Given the description of an element on the screen output the (x, y) to click on. 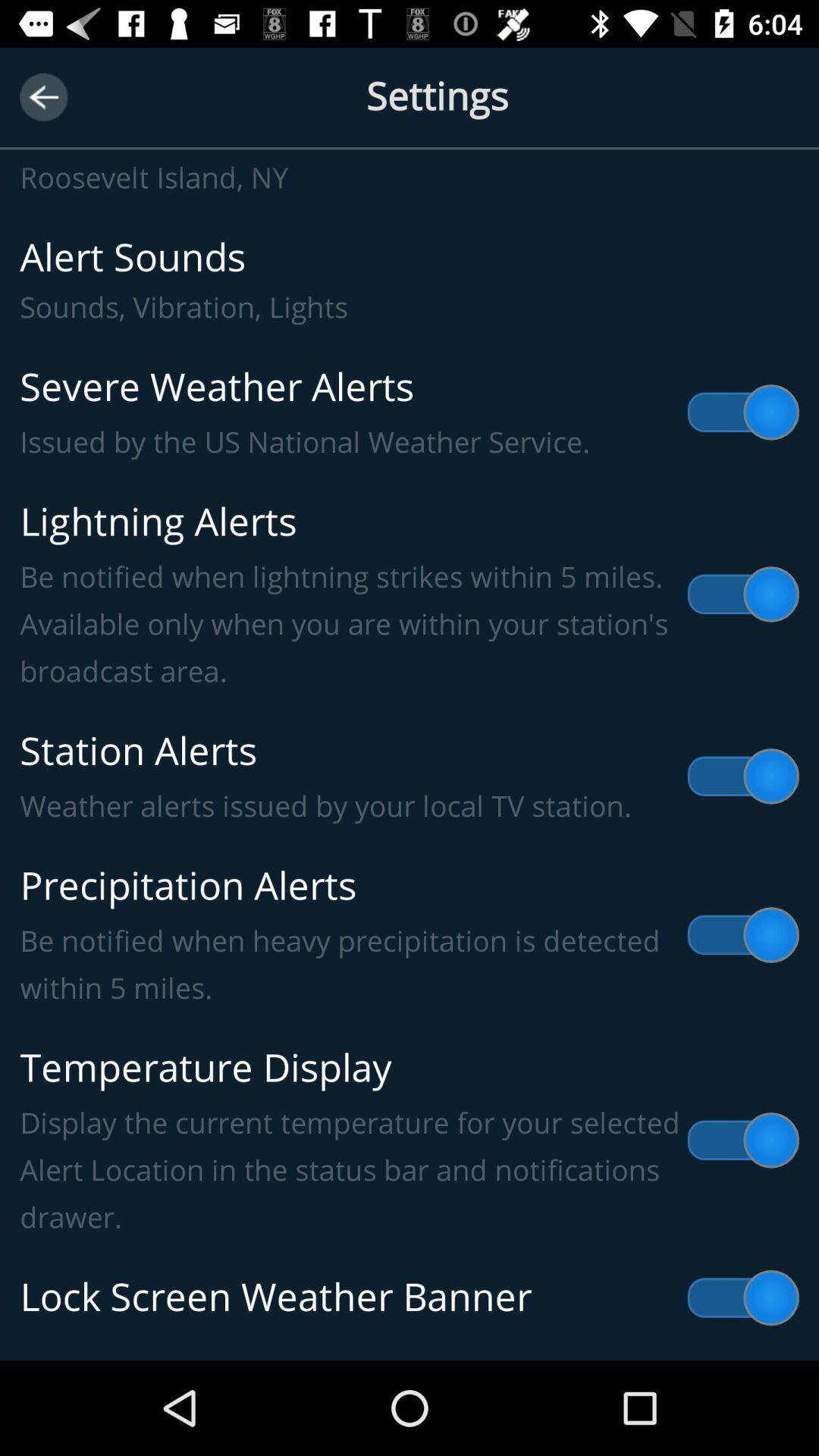
tap item above the lock screen weather (409, 1140)
